Given the description of an element on the screen output the (x, y) to click on. 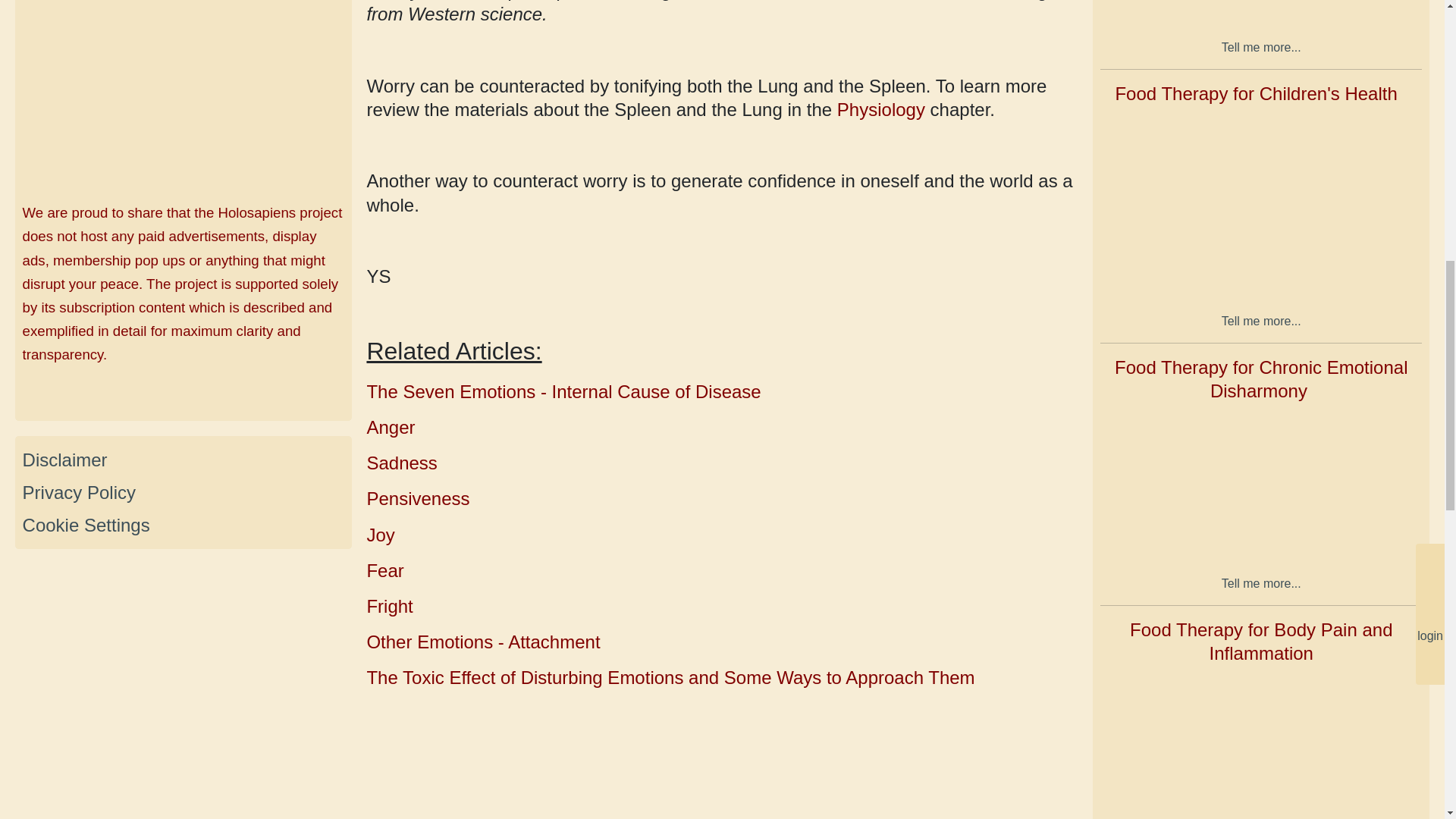
Joy (380, 534)
Tell me more... (1261, 45)
Other Emotions - Attachment (482, 641)
Disclaimer (65, 459)
Disclaimer (65, 459)
Anger (390, 426)
Cookie Settings (86, 525)
Pensiveness (417, 498)
Privacy Policy (79, 492)
